Given the description of an element on the screen output the (x, y) to click on. 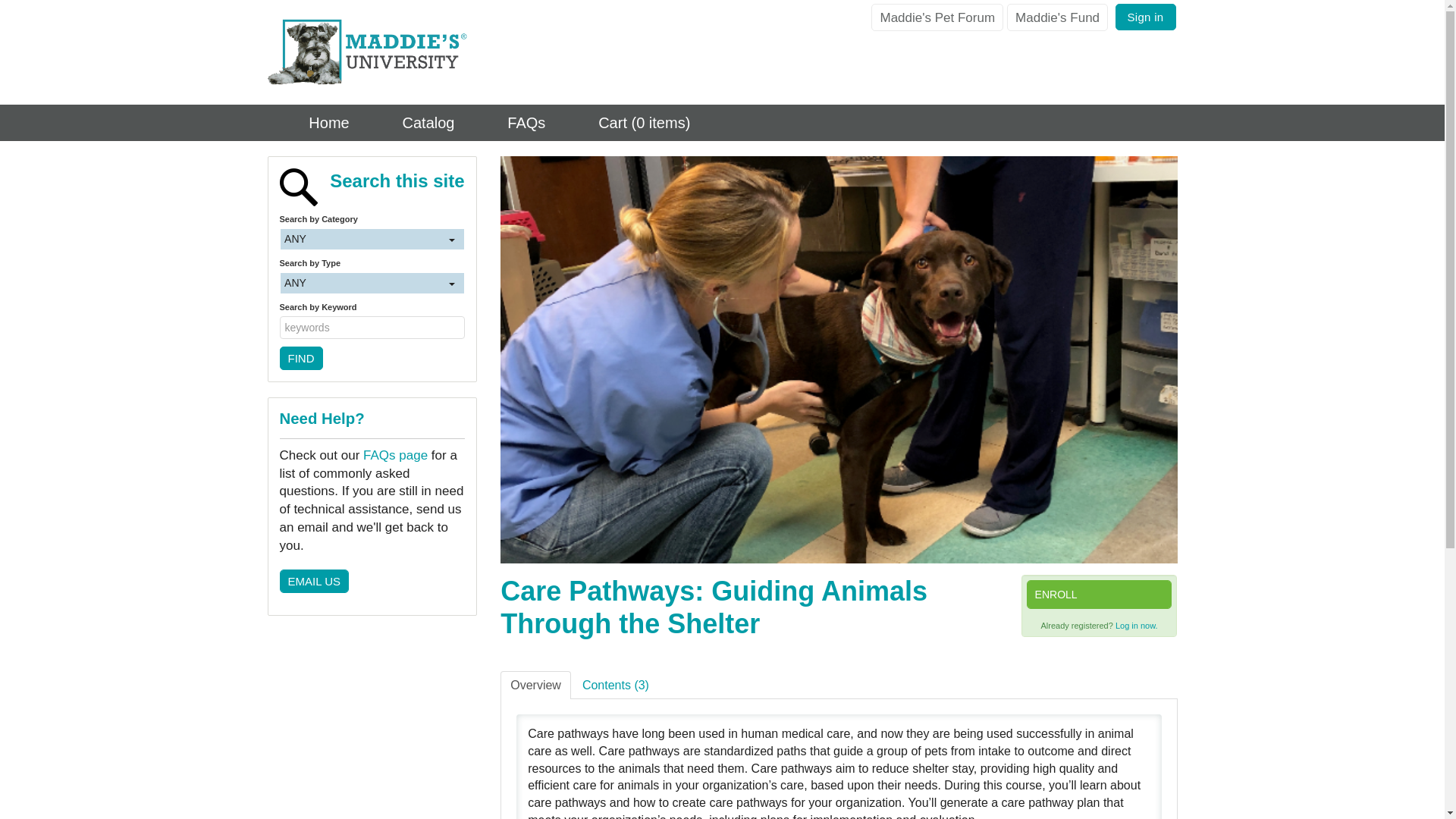
Find (300, 436)
-- (362, 258)
EMAIL US (313, 659)
FAQs page (395, 534)
Log in now. (1136, 624)
FAQs (510, 122)
Overview (535, 685)
Catalog (413, 122)
Sign in (1144, 17)
Maddie's Fund (1057, 17)
